Given the description of an element on the screen output the (x, y) to click on. 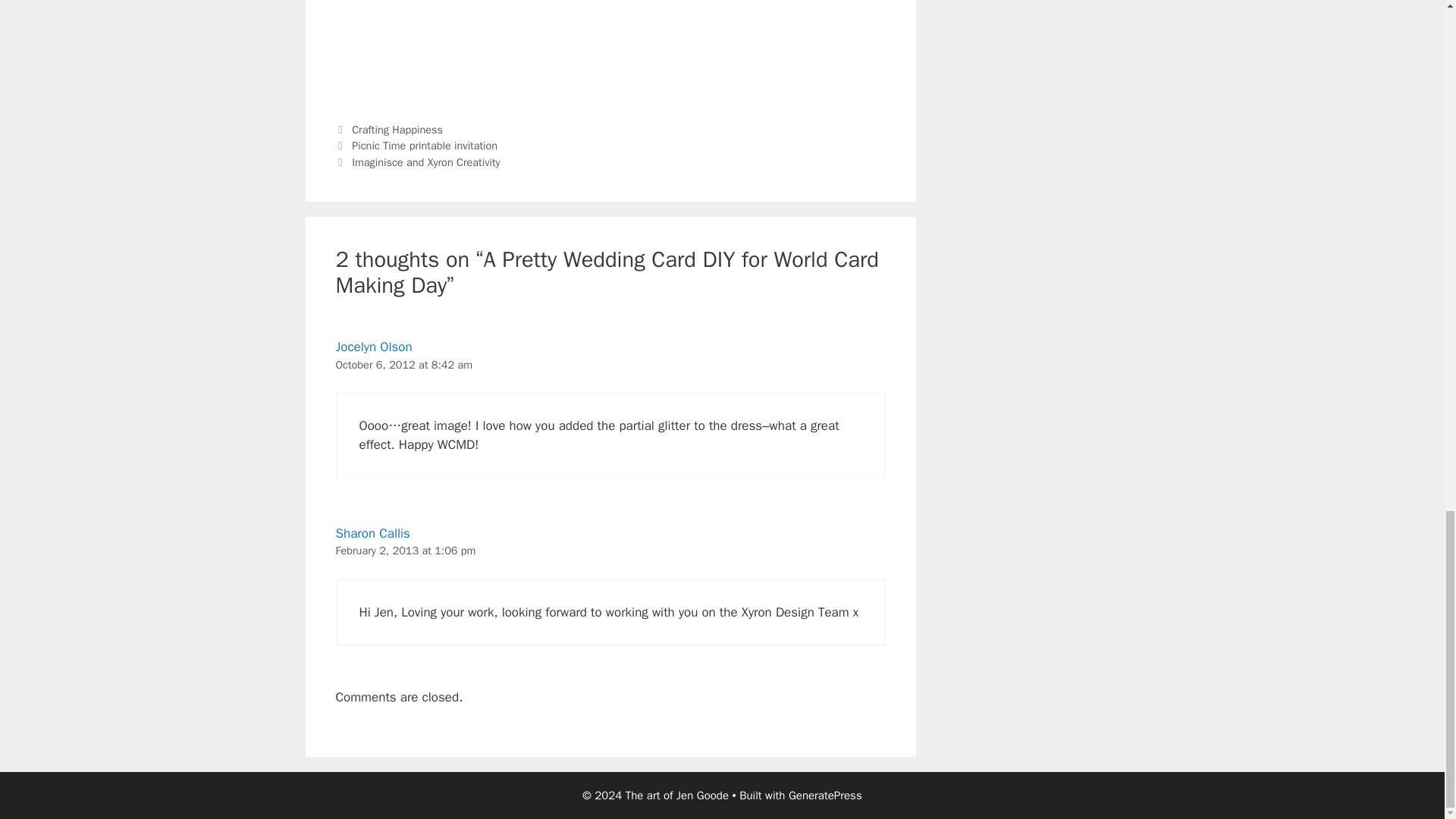
Imaginisce and Xyron Creativity (425, 161)
World Card Making Day logo (610, 49)
Crafting Happiness (397, 129)
GeneratePress (825, 795)
October 6, 2012 at 8:42 am (402, 364)
February 2, 2013 at 1:06 pm (405, 550)
Previous (415, 145)
Jocelyn Olson (373, 346)
Sharon Callis (371, 533)
Next (416, 161)
